Given the description of an element on the screen output the (x, y) to click on. 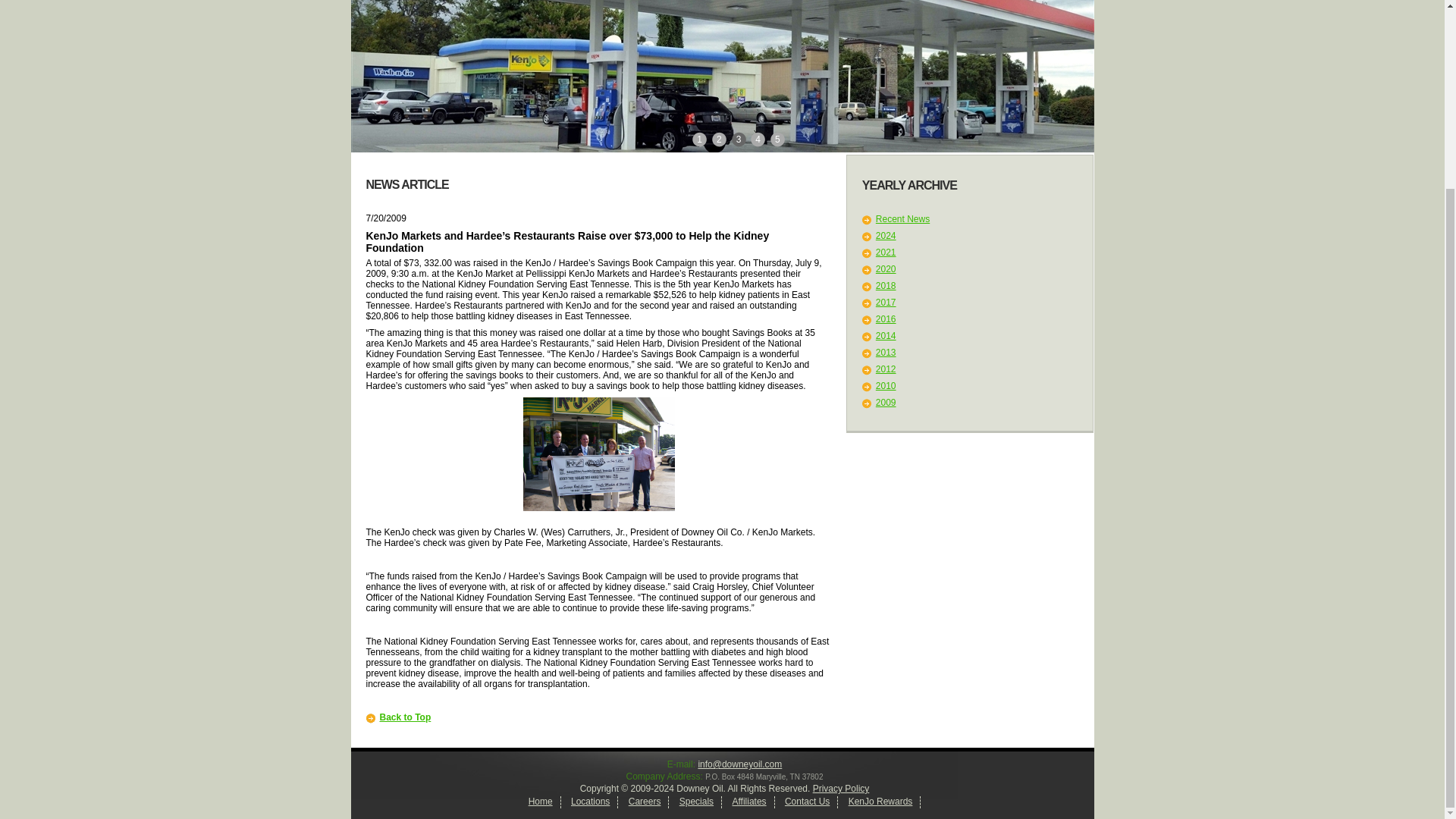
Back to Top (404, 716)
2014 (886, 335)
5 (778, 138)
2 (719, 138)
2016 (886, 318)
1 (700, 138)
4 (759, 138)
2018 (886, 285)
2010 (886, 385)
2021 (886, 252)
2020 (886, 268)
3 (740, 138)
2012 (886, 368)
2017 (886, 302)
2024 (886, 235)
